Given the description of an element on the screen output the (x, y) to click on. 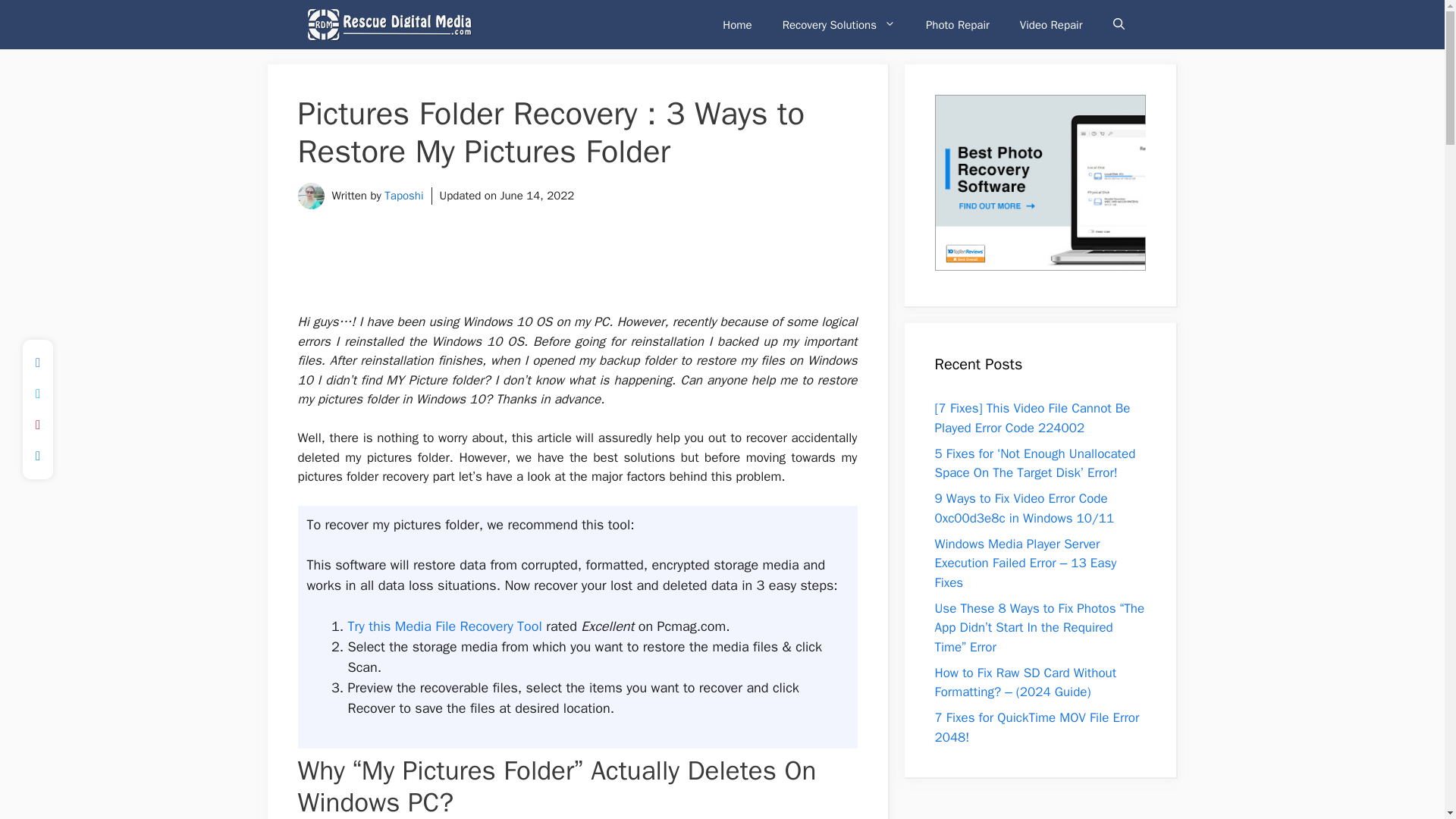
Try this Media File Recovery Tool (444, 626)
Advertisement (577, 273)
Home (737, 23)
Taposhi (403, 195)
Photo Repair (957, 23)
Best Photo Recovery Software (1039, 183)
Video Repair (1050, 23)
Rescue Digital Media (390, 24)
Recovery Solutions (839, 23)
